Given the description of an element on the screen output the (x, y) to click on. 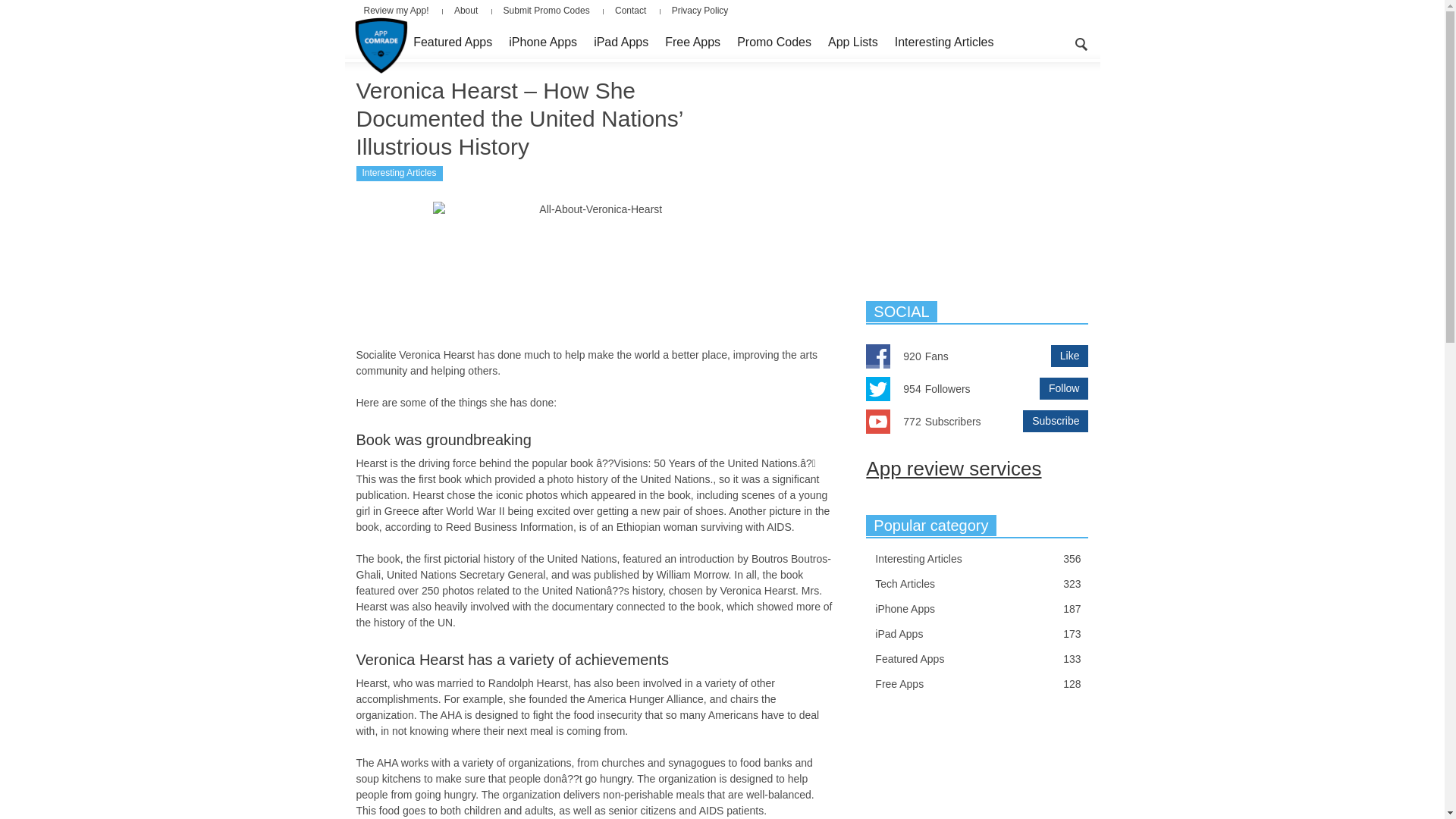
Like (1070, 355)
Interesting Articles (944, 42)
Privacy Policy (700, 9)
Contact (631, 9)
Review my App! (402, 9)
Home (381, 42)
Free Apps (692, 42)
Promo Codes (774, 42)
iPad Apps (620, 42)
iPhone Apps (542, 42)
About (465, 9)
Interesting Articles (399, 173)
Subscribe (1055, 421)
Follow (1063, 388)
Submit Promo Codes (546, 9)
